Given the description of an element on the screen output the (x, y) to click on. 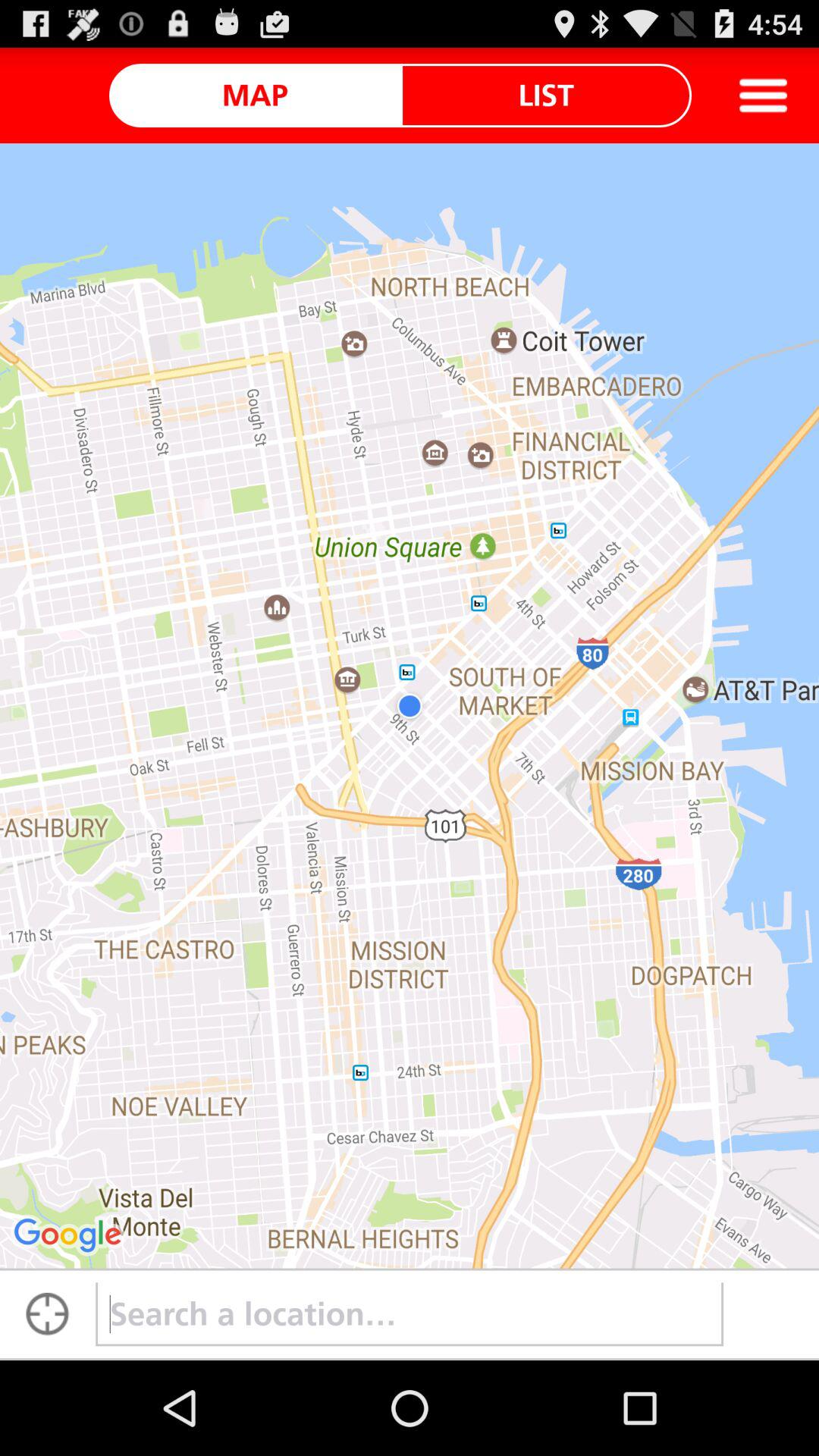
press icon at the center (409, 705)
